Given the description of an element on the screen output the (x, y) to click on. 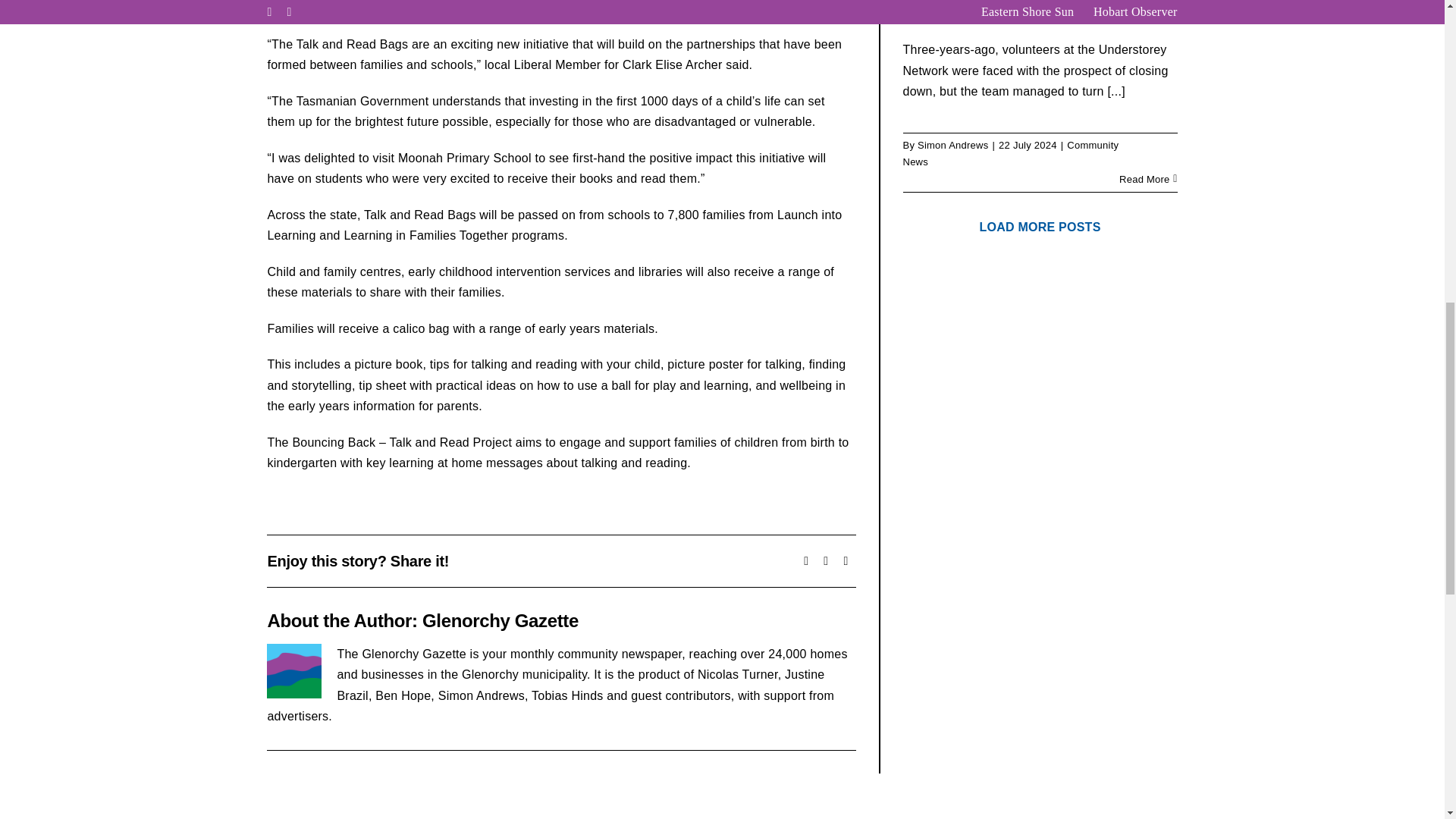
New growth thanks to Landcare (1002, 9)
Glenorchy Gazette (500, 620)
Posts by Simon Andrews (952, 144)
Simon Andrews (952, 144)
